Given the description of an element on the screen output the (x, y) to click on. 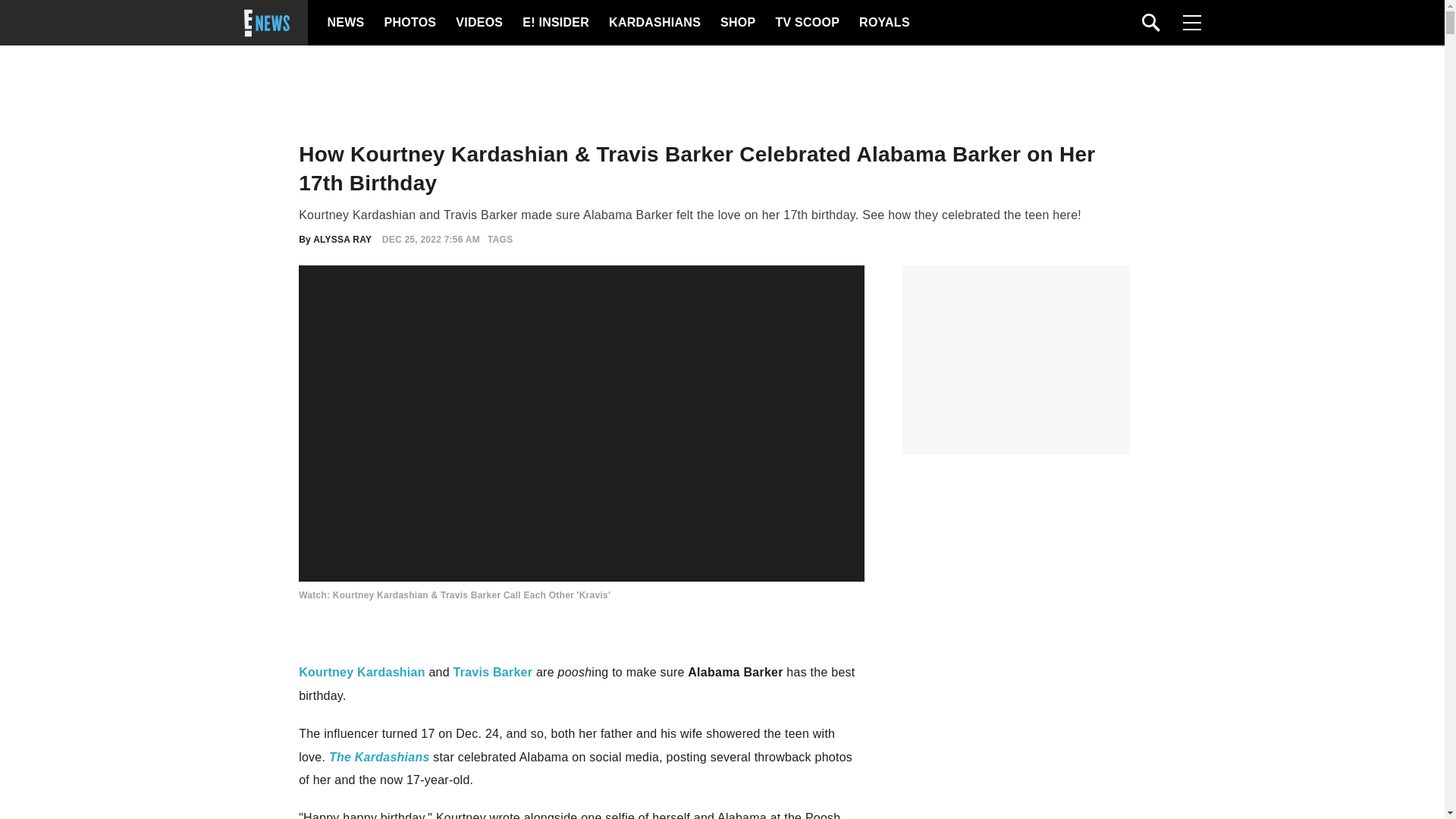
Travis Barker (492, 671)
Kourtney Kardashian (361, 671)
KARDASHIANS (653, 22)
TV SCOOP (806, 22)
ROYALS (883, 22)
NEWS (345, 22)
SHOP (737, 22)
The Kardashians (379, 757)
PHOTOS (408, 22)
E! INSIDER (555, 22)
VIDEOS (478, 22)
ALYSSA RAY (342, 239)
